Given the description of an element on the screen output the (x, y) to click on. 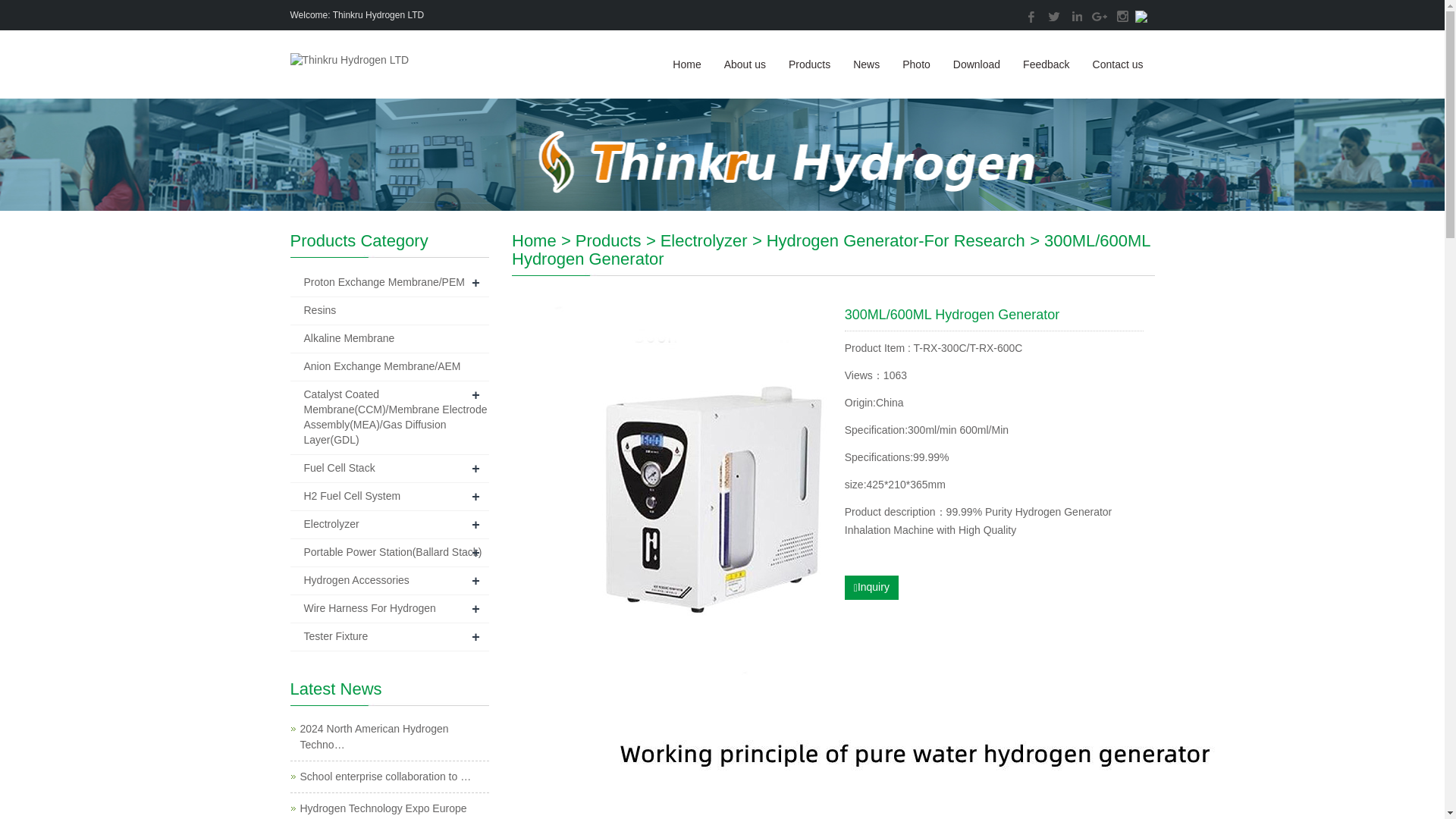
Home (534, 240)
Products (608, 240)
Hydrogen Generator-For Research (896, 240)
Hydrogen Technology Expo Europe 2023 (383, 810)
Feedback (1045, 64)
Download (976, 64)
Products (809, 64)
Electrolyzer (704, 240)
Products (608, 240)
